Given the description of an element on the screen output the (x, y) to click on. 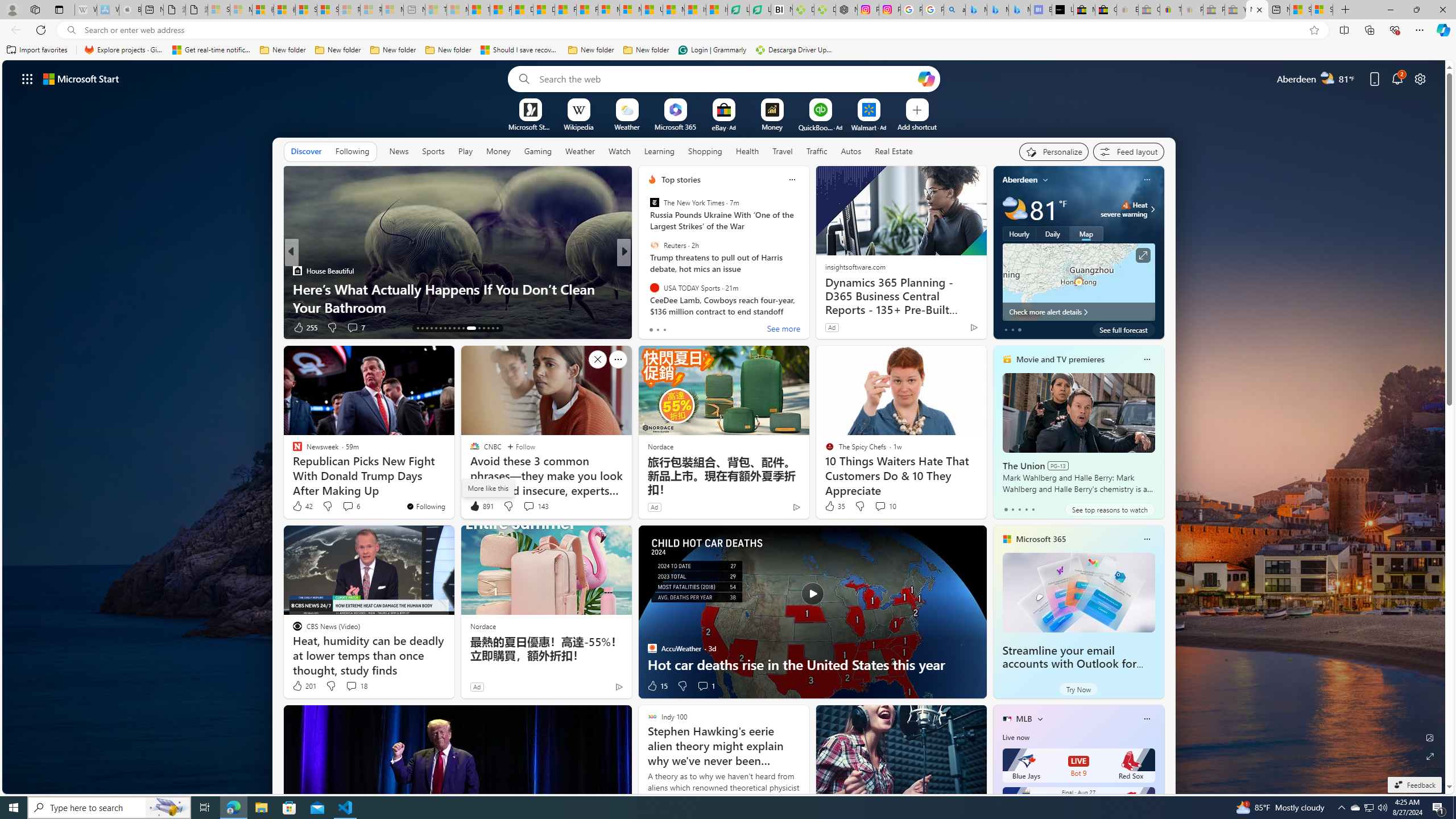
AutomationID: tab-31 (488, 328)
Heat - Severe (1126, 204)
AutomationID: tab-19 (444, 328)
Check more alert details (1077, 311)
View comments 18 Comment (355, 685)
Heat - Severe Heat severe warning (1123, 208)
Try Now (1078, 689)
USA TODAY Sports (654, 287)
Learn Singing & Healing at the same time (807, 307)
